Given the description of an element on the screen output the (x, y) to click on. 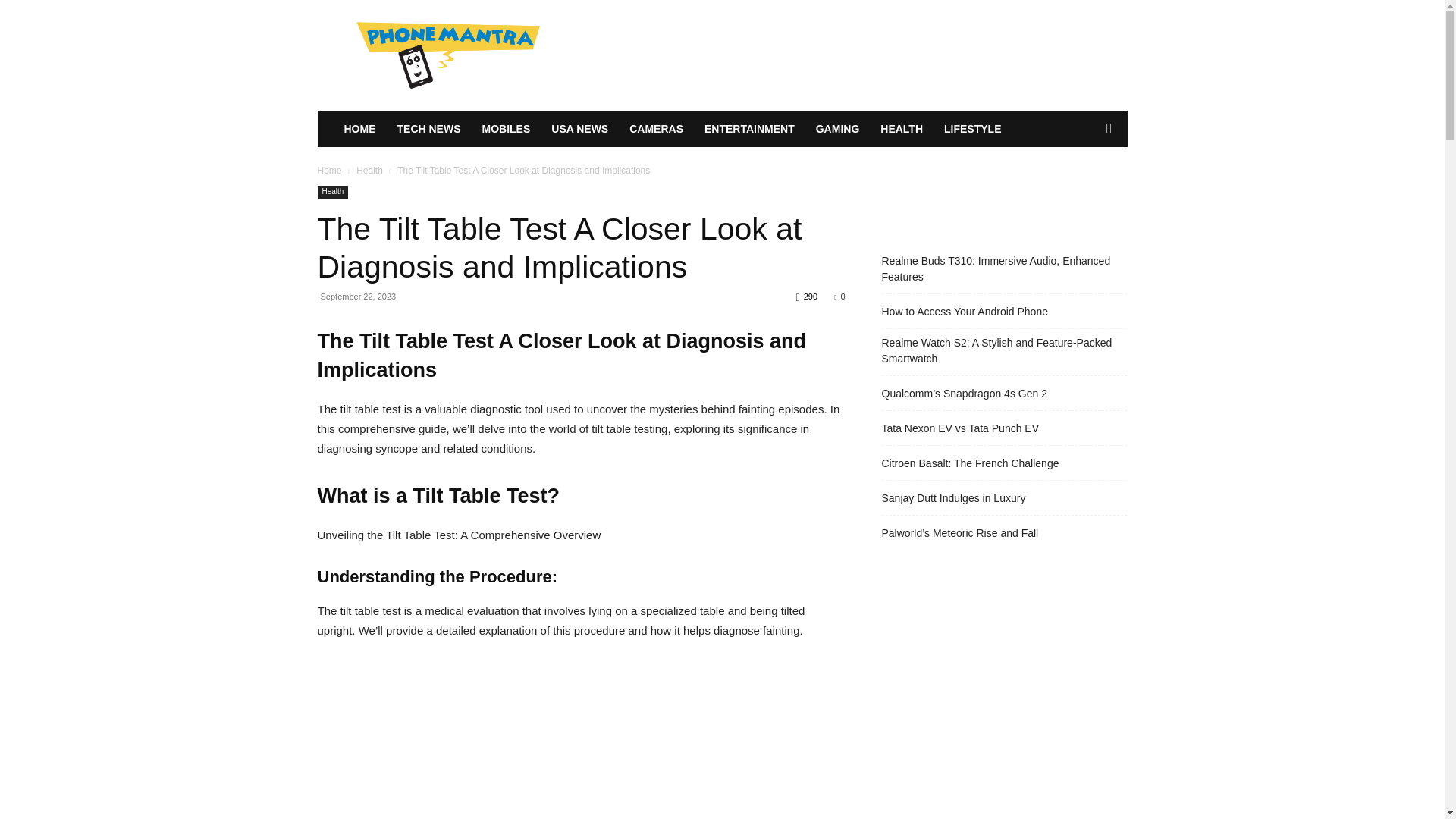
GAMING (837, 128)
Search (1085, 189)
HEALTH (901, 128)
LIFESTYLE (972, 128)
Health (369, 170)
Health (332, 192)
View all posts in Health (369, 170)
TECH NEWS (429, 128)
Home (328, 170)
Phonemantra (446, 55)
ENTERTAINMENT (749, 128)
USA NEWS (579, 128)
0 (839, 296)
HOME (360, 128)
CAMERAS (656, 128)
